Given the description of an element on the screen output the (x, y) to click on. 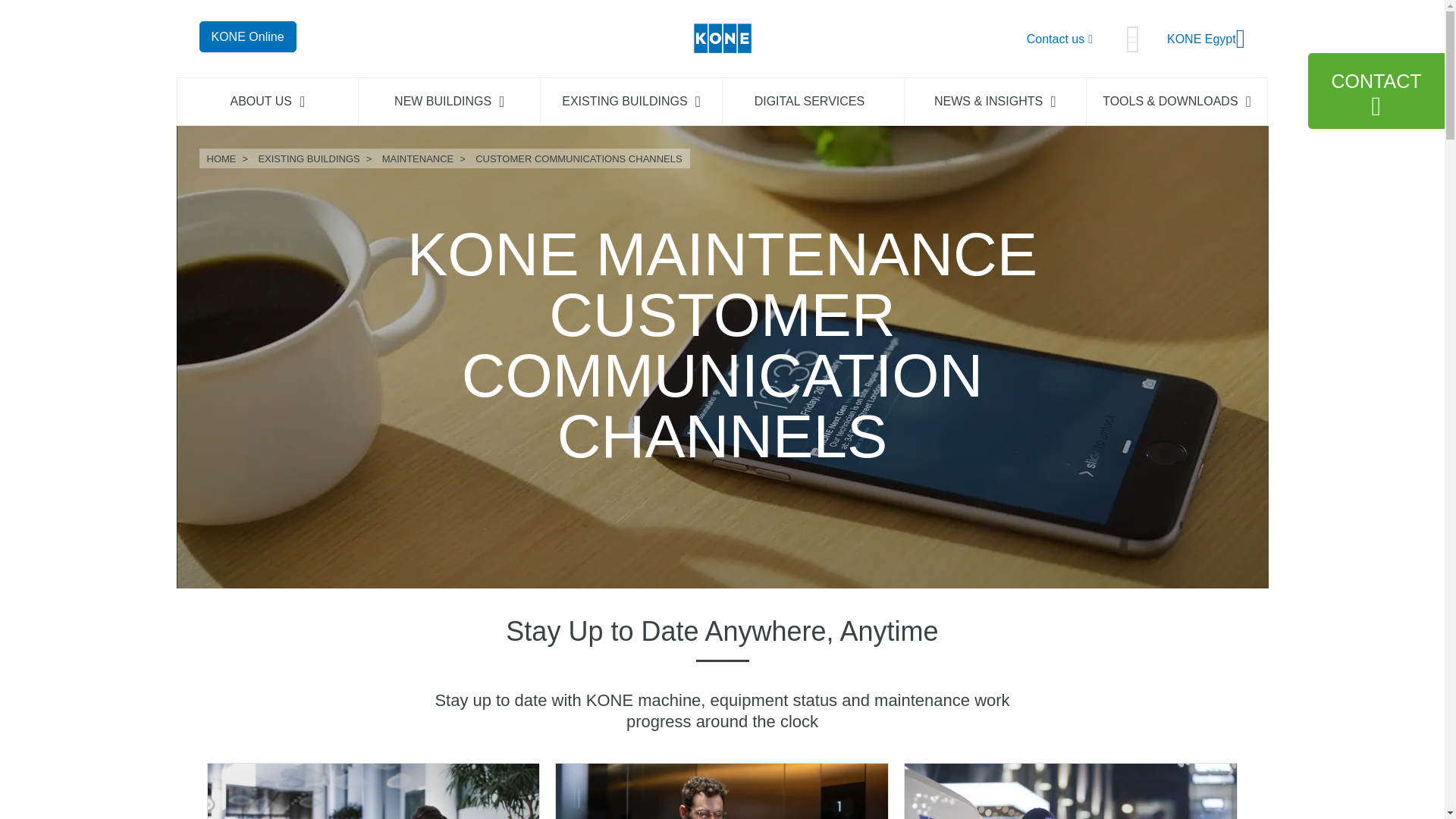
NEW BUILDINGS (448, 101)
KONE Egypt (1206, 38)
Contact us (1059, 38)
KONE Online (246, 36)
ABOUT US (267, 101)
